Given the description of an element on the screen output the (x, y) to click on. 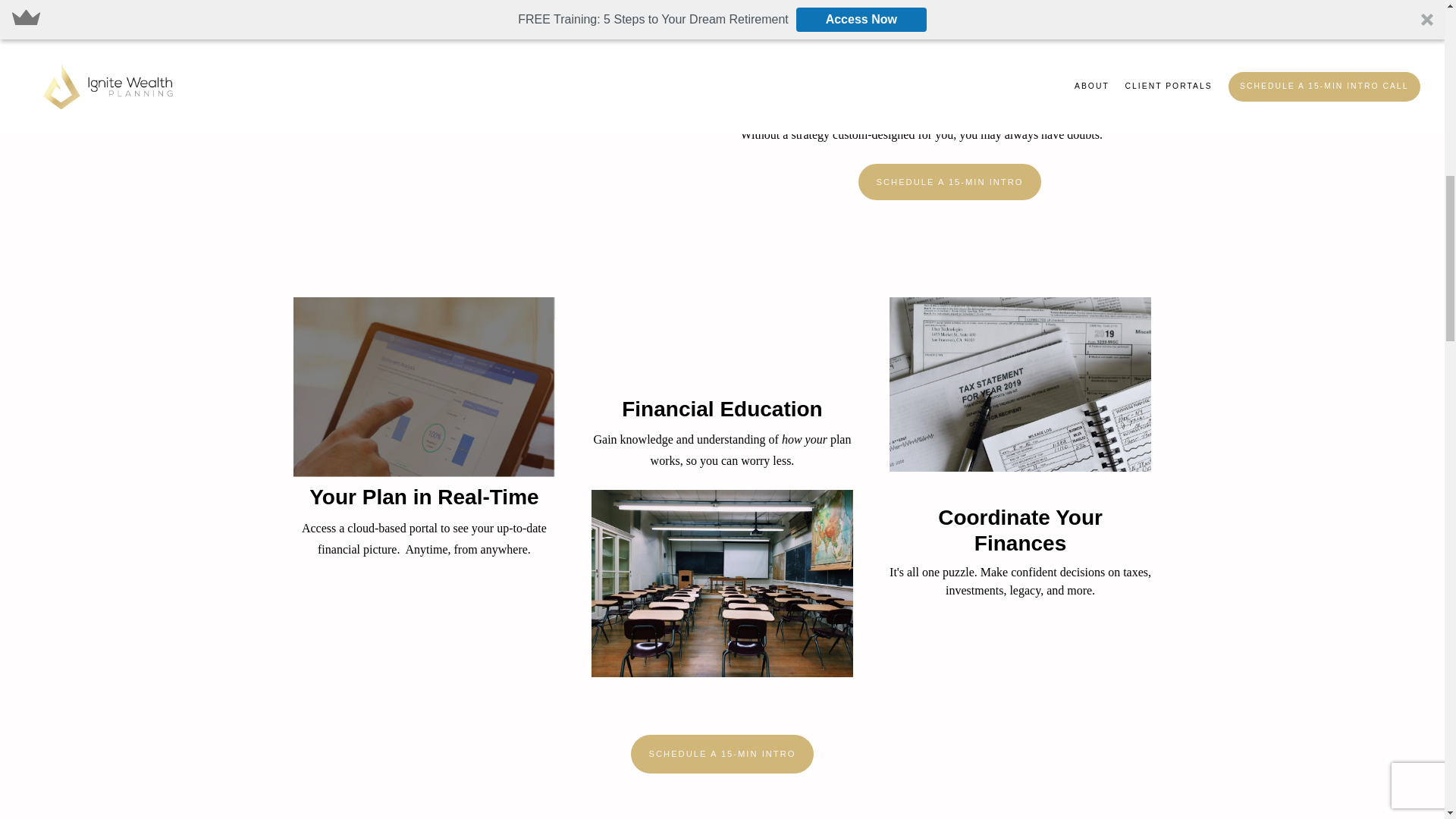
SCHEDULE A 15-MIN INTRO (721, 753)
SCHEDULE A 15-MIN INTRO (950, 181)
